Given the description of an element on the screen output the (x, y) to click on. 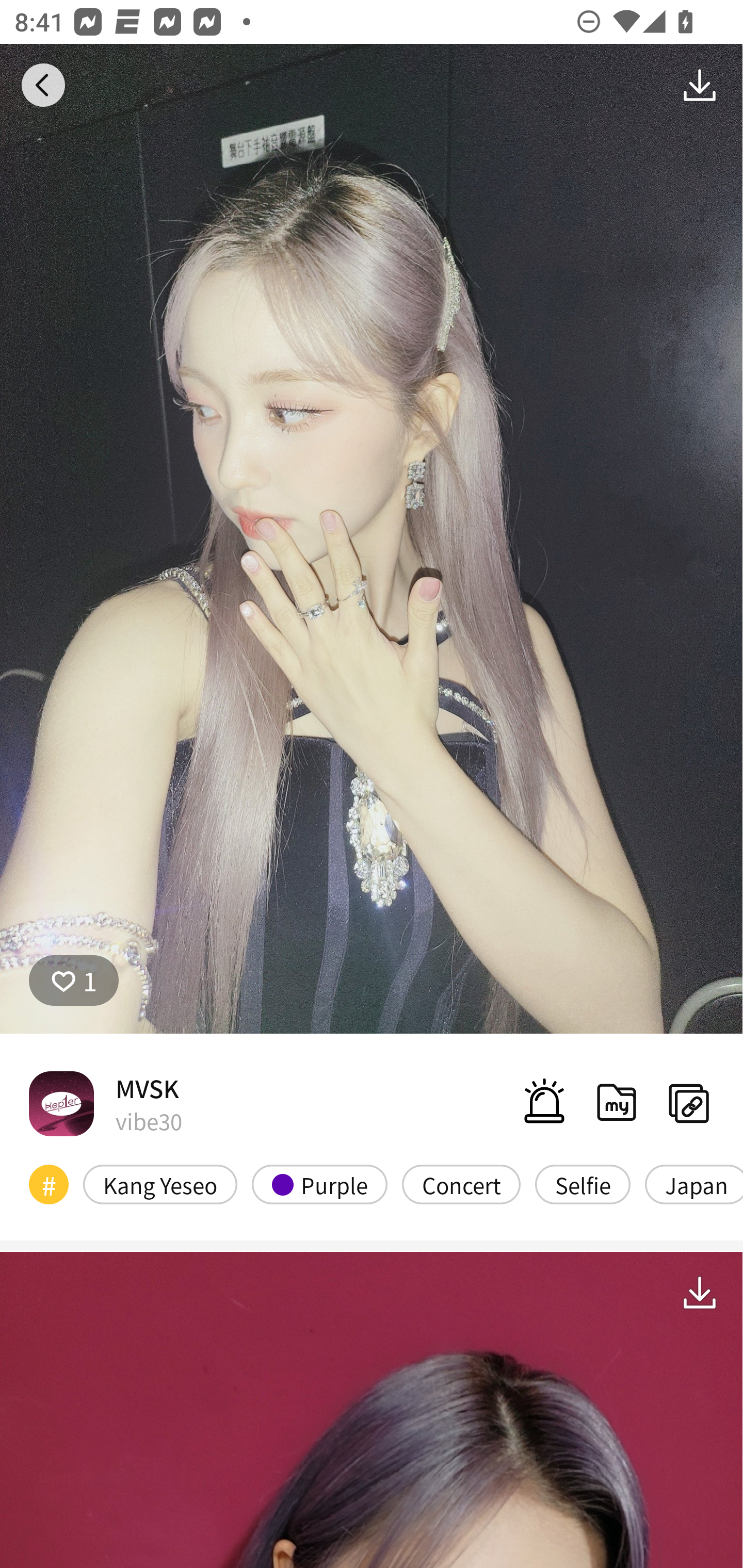
1 (73, 980)
MVSK vibe30 (105, 1102)
Kang Yeseo (160, 1184)
Purple (319, 1184)
Concert (460, 1184)
Selfie (582, 1184)
Japan (693, 1184)
